Given the description of an element on the screen output the (x, y) to click on. 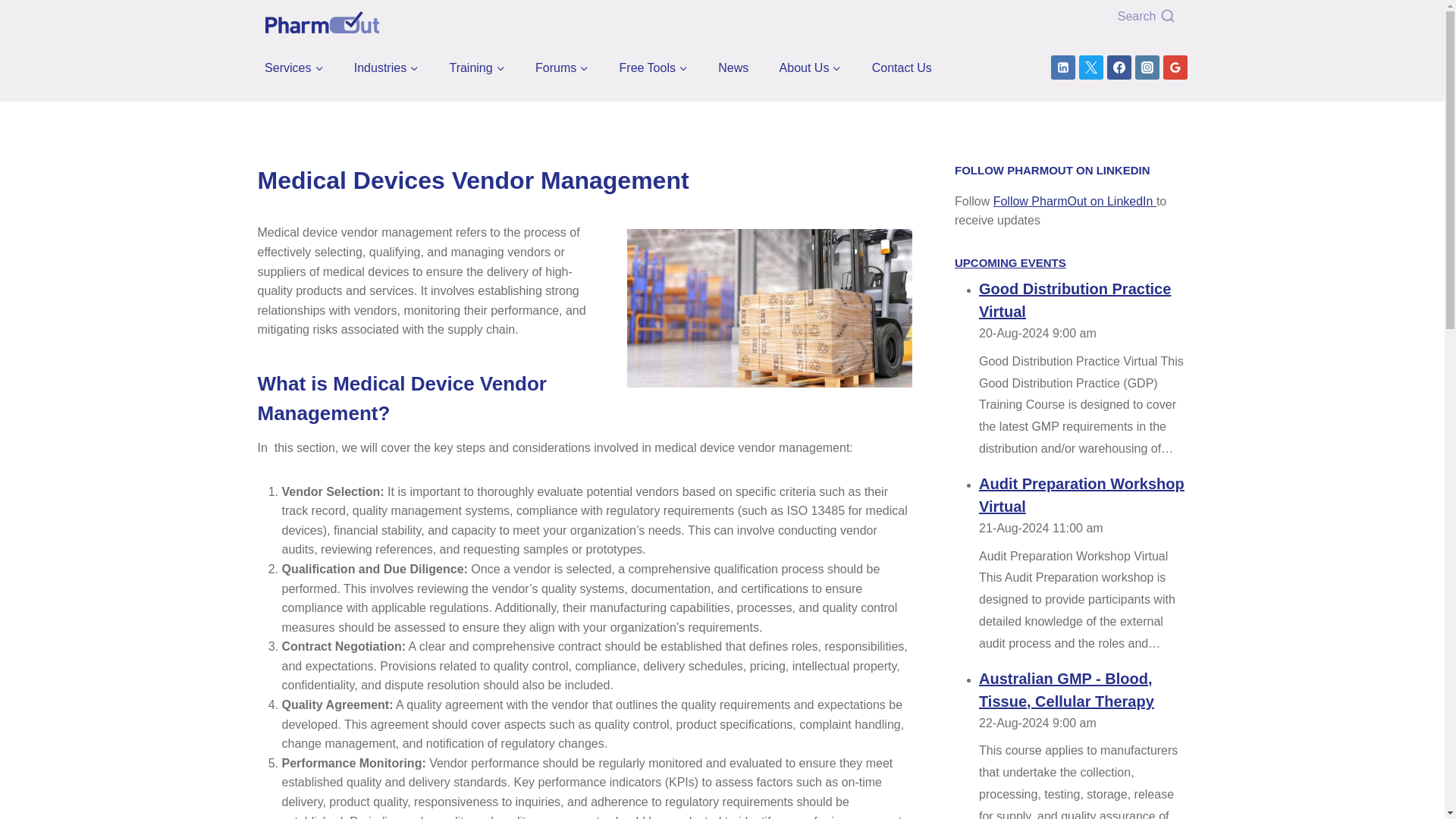
Industries (386, 67)
Services (294, 67)
Free GMP tools (653, 67)
Search (1080, 16)
GMP Training (477, 67)
